Given the description of an element on the screen output the (x, y) to click on. 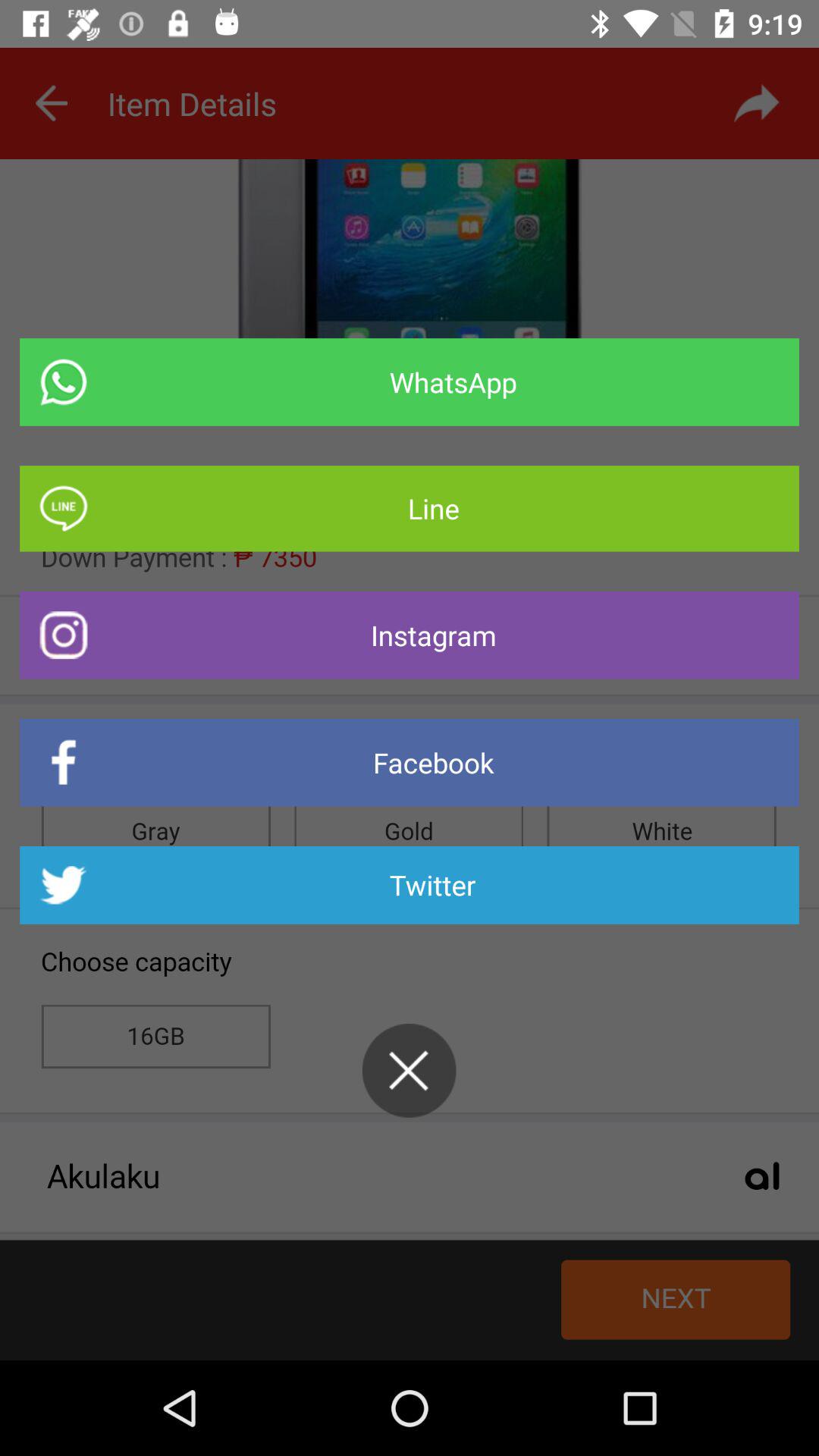
turn on facebook icon (409, 762)
